Given the description of an element on the screen output the (x, y) to click on. 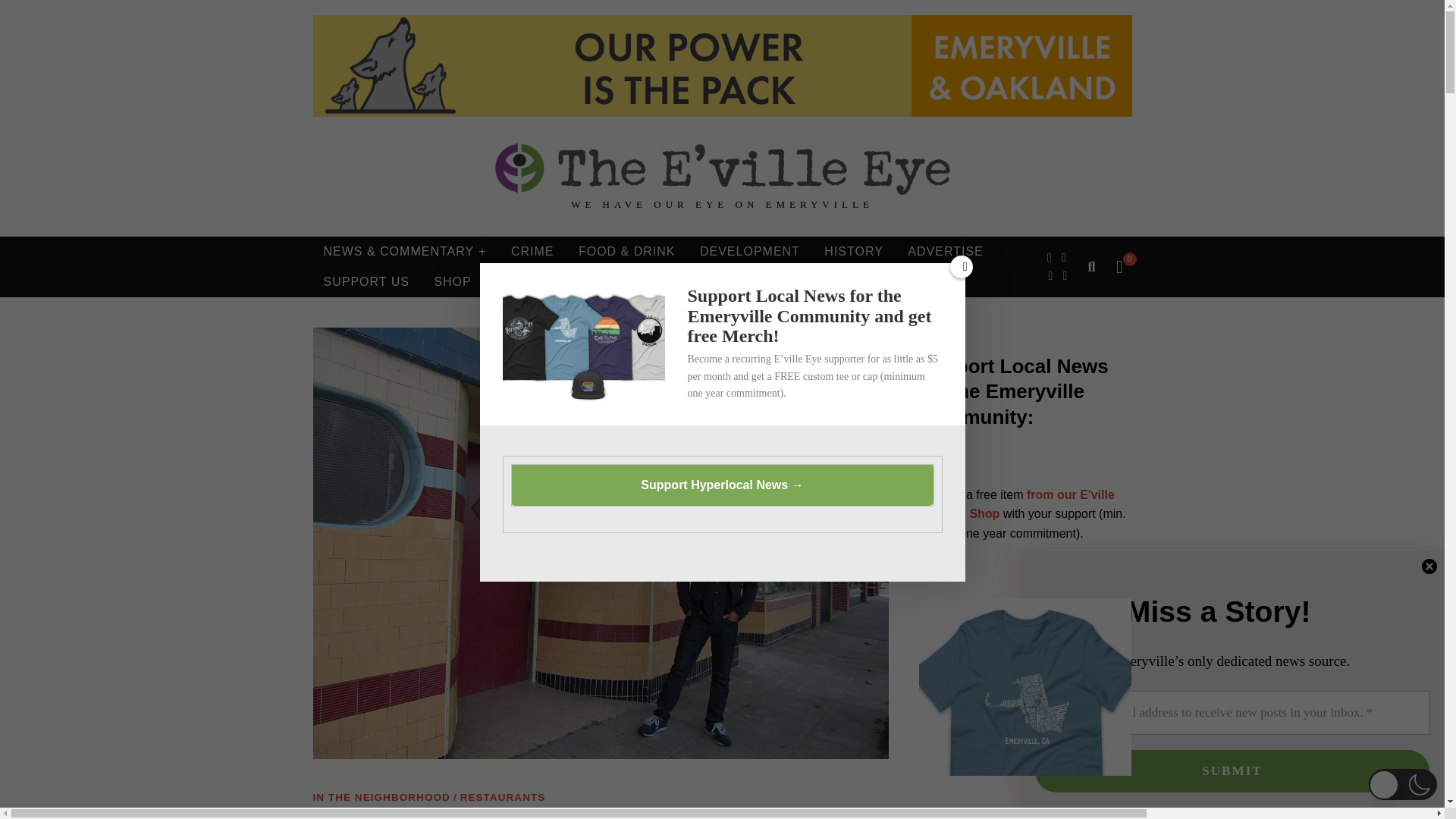
0 (1118, 266)
SHOP (452, 281)
SUPPORT US (366, 281)
Submit (1232, 771)
IN THE NEIGHBORHOOD (381, 797)
CRIME (532, 251)
ADVERTISE (944, 251)
NOCCS Leaderboard (722, 66)
RESTAURANTS (503, 797)
DEVELOPMENT (749, 251)
HISTORY (853, 251)
